Given the description of an element on the screen output the (x, y) to click on. 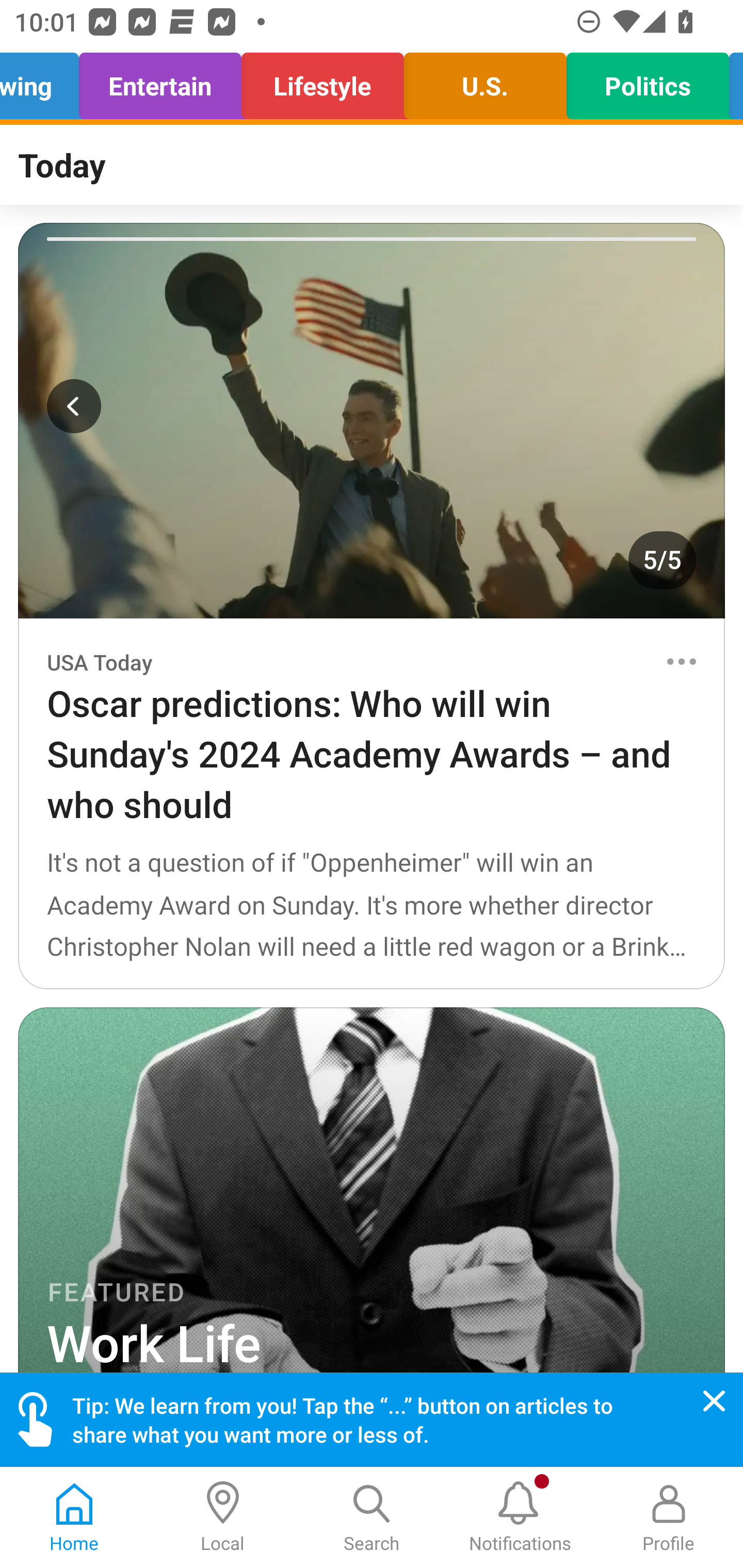
Following (44, 81)
Entertain (160, 81)
Lifestyle (322, 81)
U.S. (485, 81)
Politics (647, 81)
Options (681, 661)
Close (714, 1401)
Local (222, 1517)
Search (371, 1517)
Notifications, New notification Notifications (519, 1517)
Profile (668, 1517)
